Given the description of an element on the screen output the (x, y) to click on. 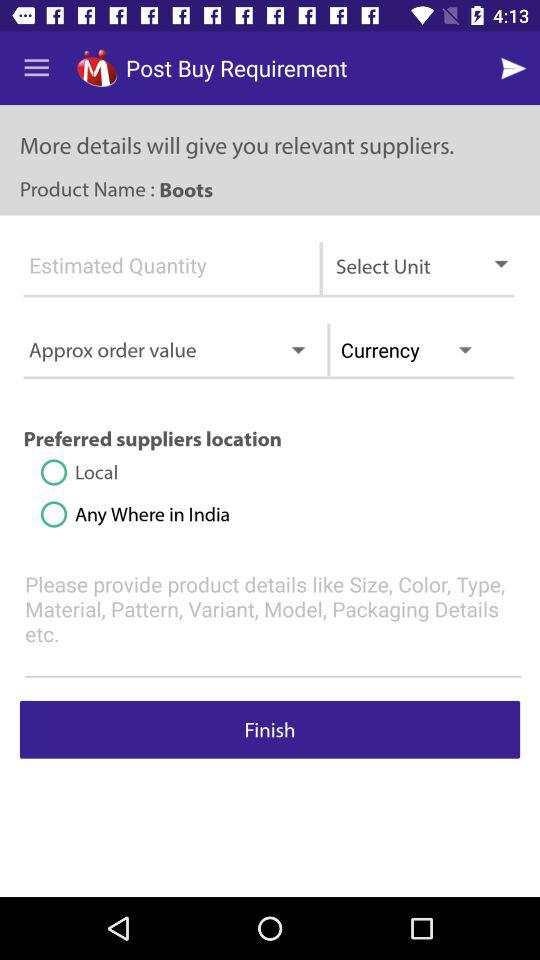
go to next (516, 68)
